Given the description of an element on the screen output the (x, y) to click on. 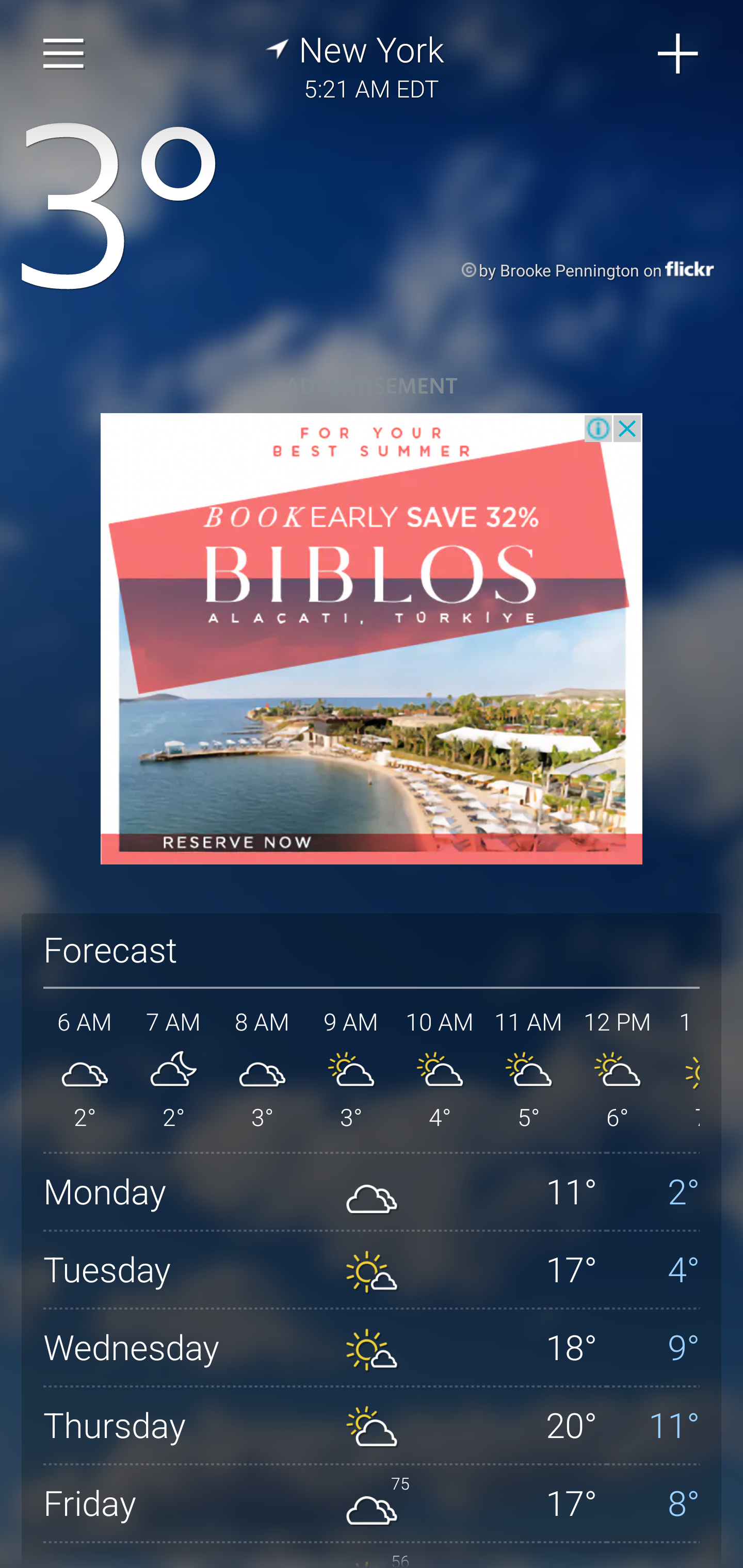
Sidebar (64, 54)
Add City (678, 53)
biblosresorts (371, 638)
